Given the description of an element on the screen output the (x, y) to click on. 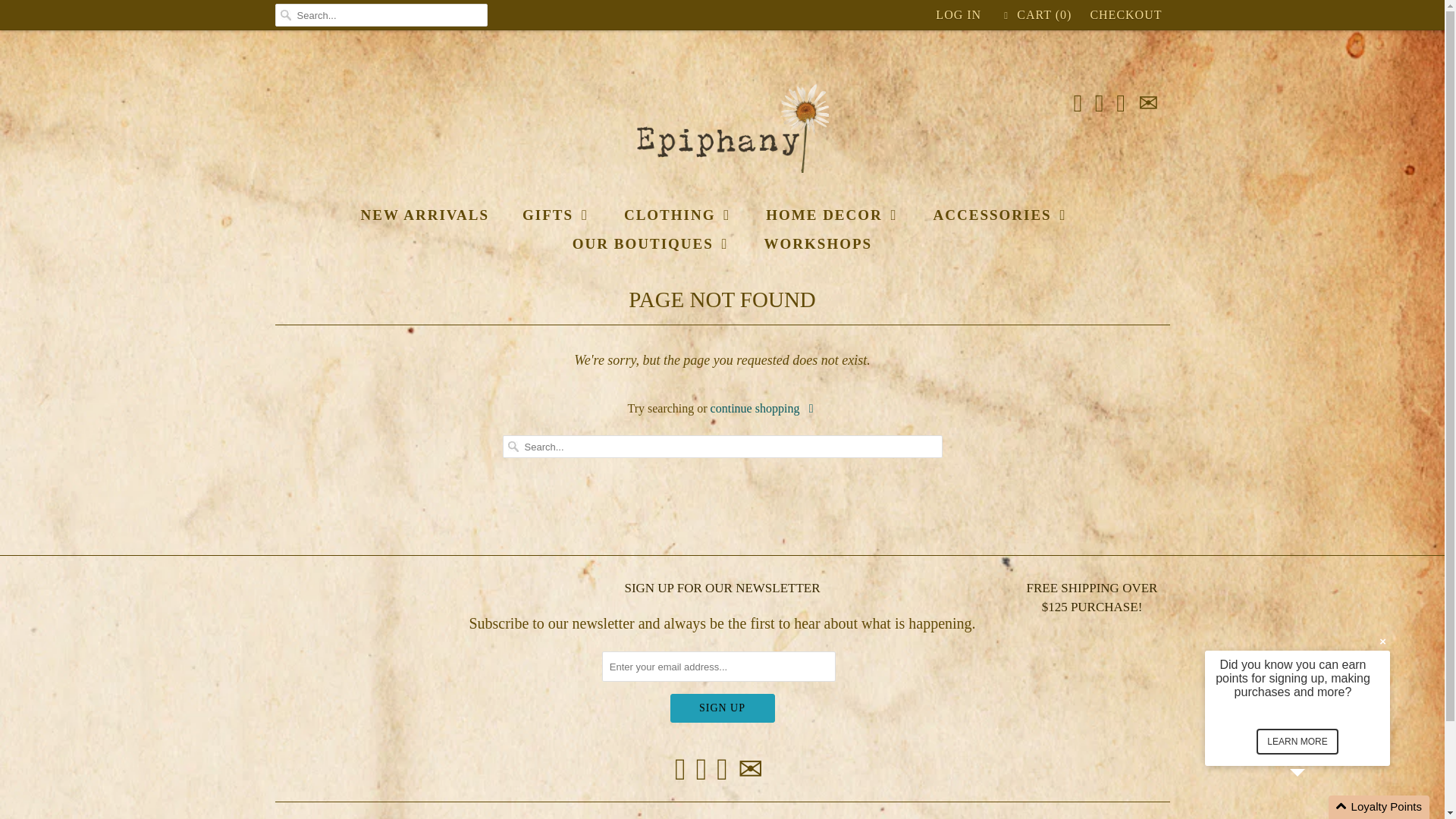
Email Epiphany (750, 769)
Sign Up (721, 707)
LOG IN (958, 15)
CHECKOUT (1125, 15)
Epiphany (721, 128)
